Given the description of an element on the screen output the (x, y) to click on. 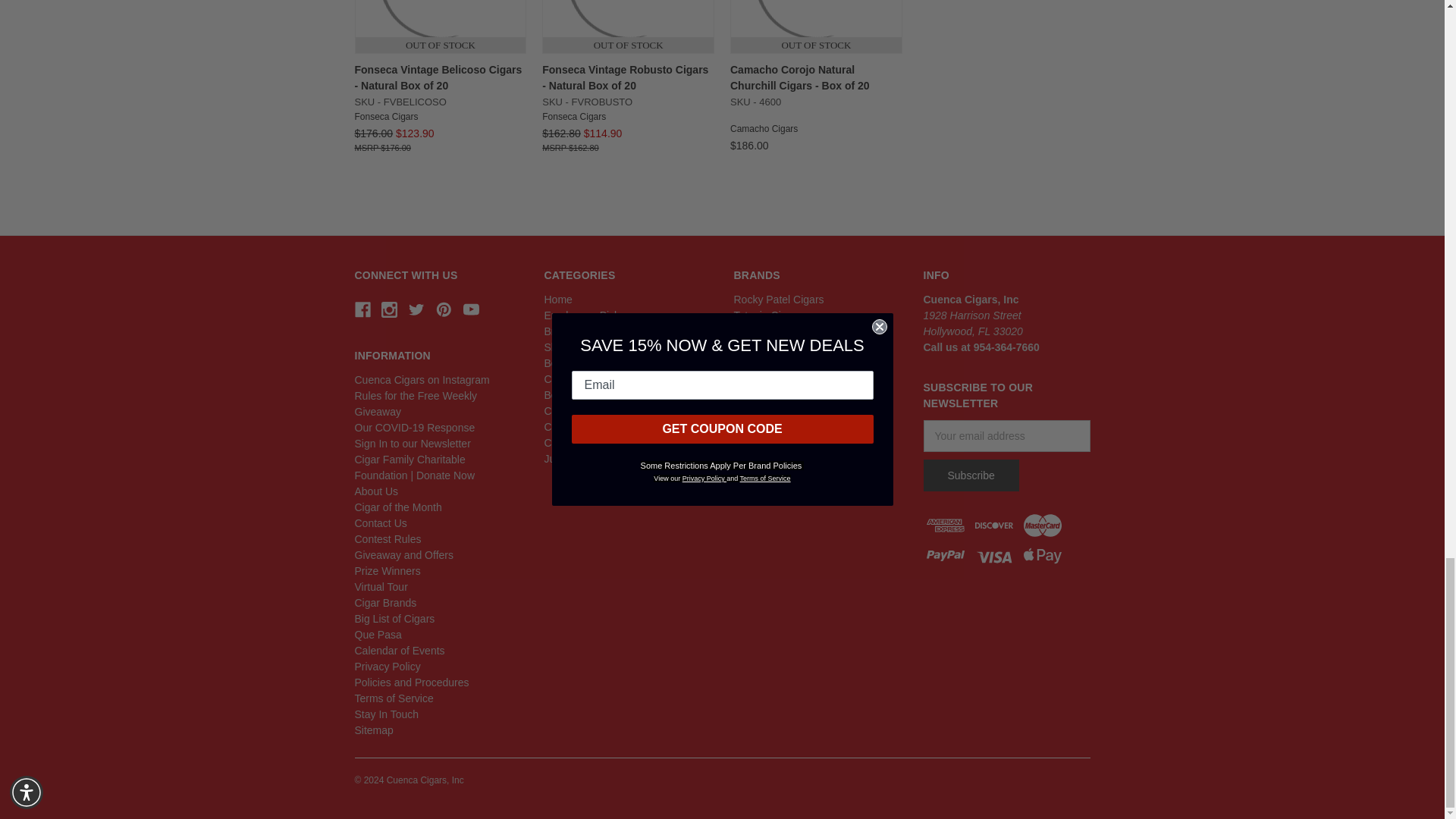
Camacho Corojo Natural Churchill Cigars - Box of 20 (816, 26)
Fonseca Vintage Robusto Cigars - Natural Box of 20 (628, 26)
Fonseca Vintage Belicoso Cigars - Natural Box of 20 (440, 26)
Subscribe (971, 475)
